Given the description of an element on the screen output the (x, y) to click on. 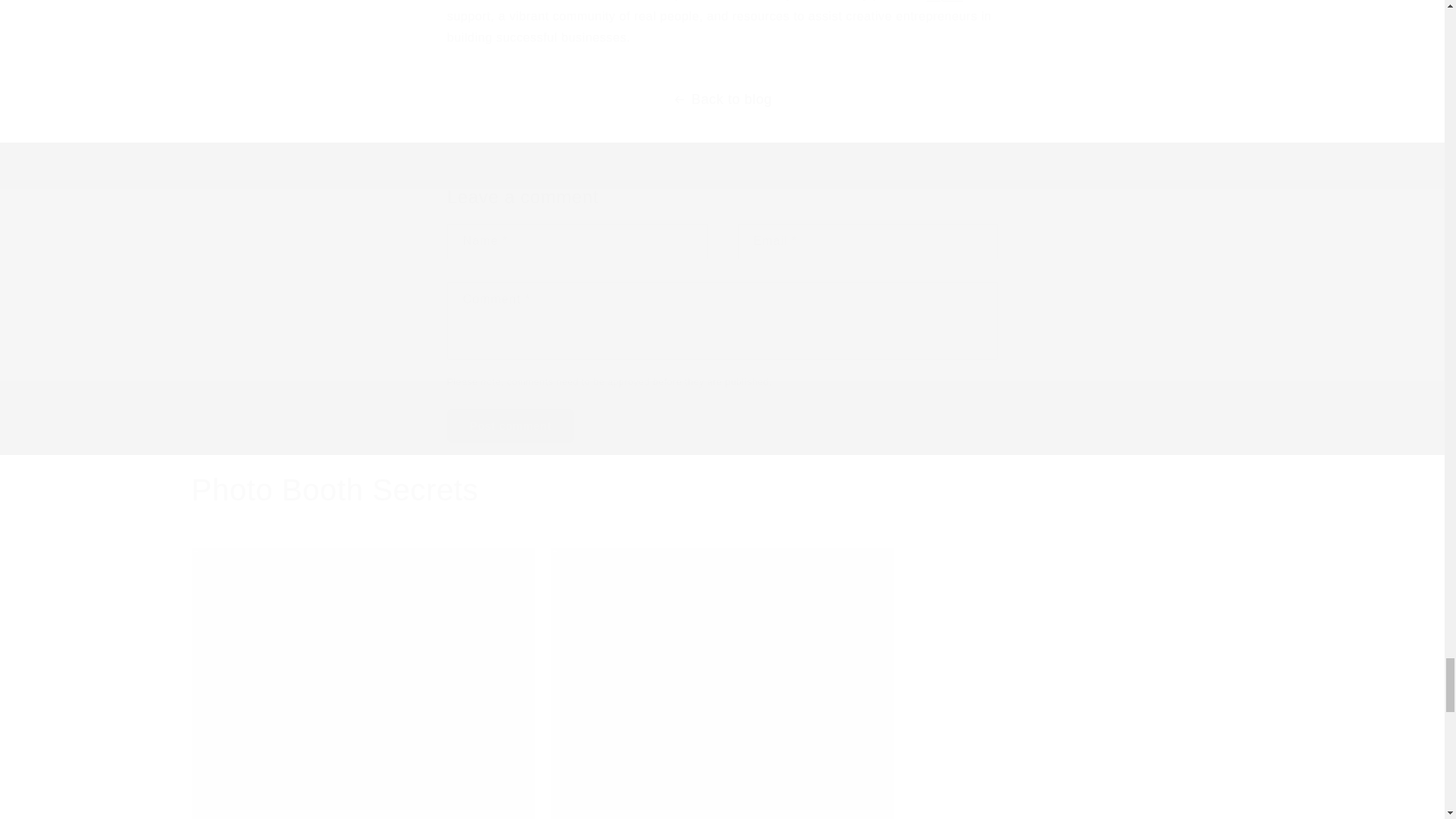
Photo Booth Secrets (333, 489)
Post comment (510, 425)
